Given the description of an element on the screen output the (x, y) to click on. 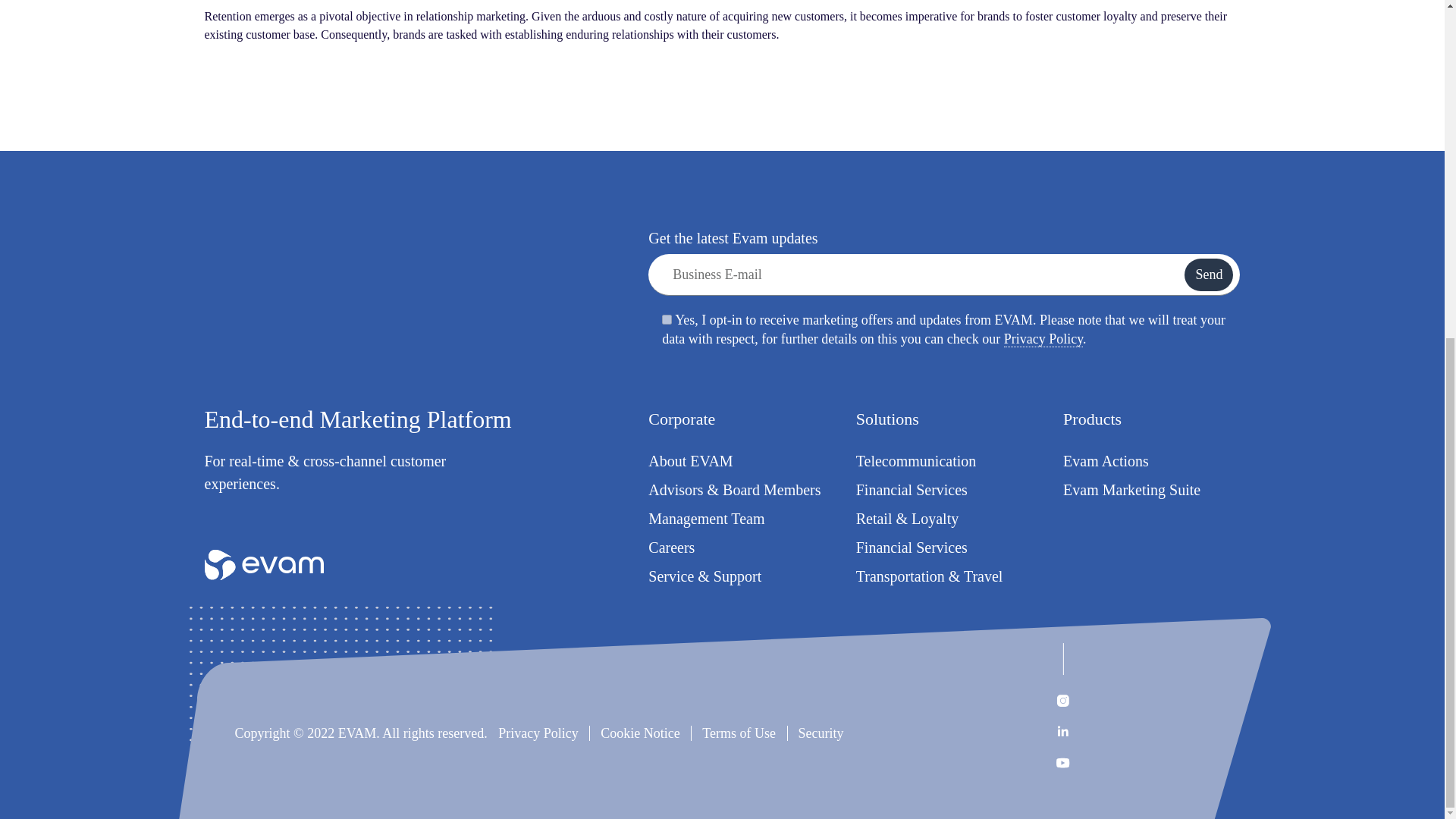
1 (666, 319)
Privacy Policy (1043, 339)
Send (1209, 274)
